Given the description of an element on the screen output the (x, y) to click on. 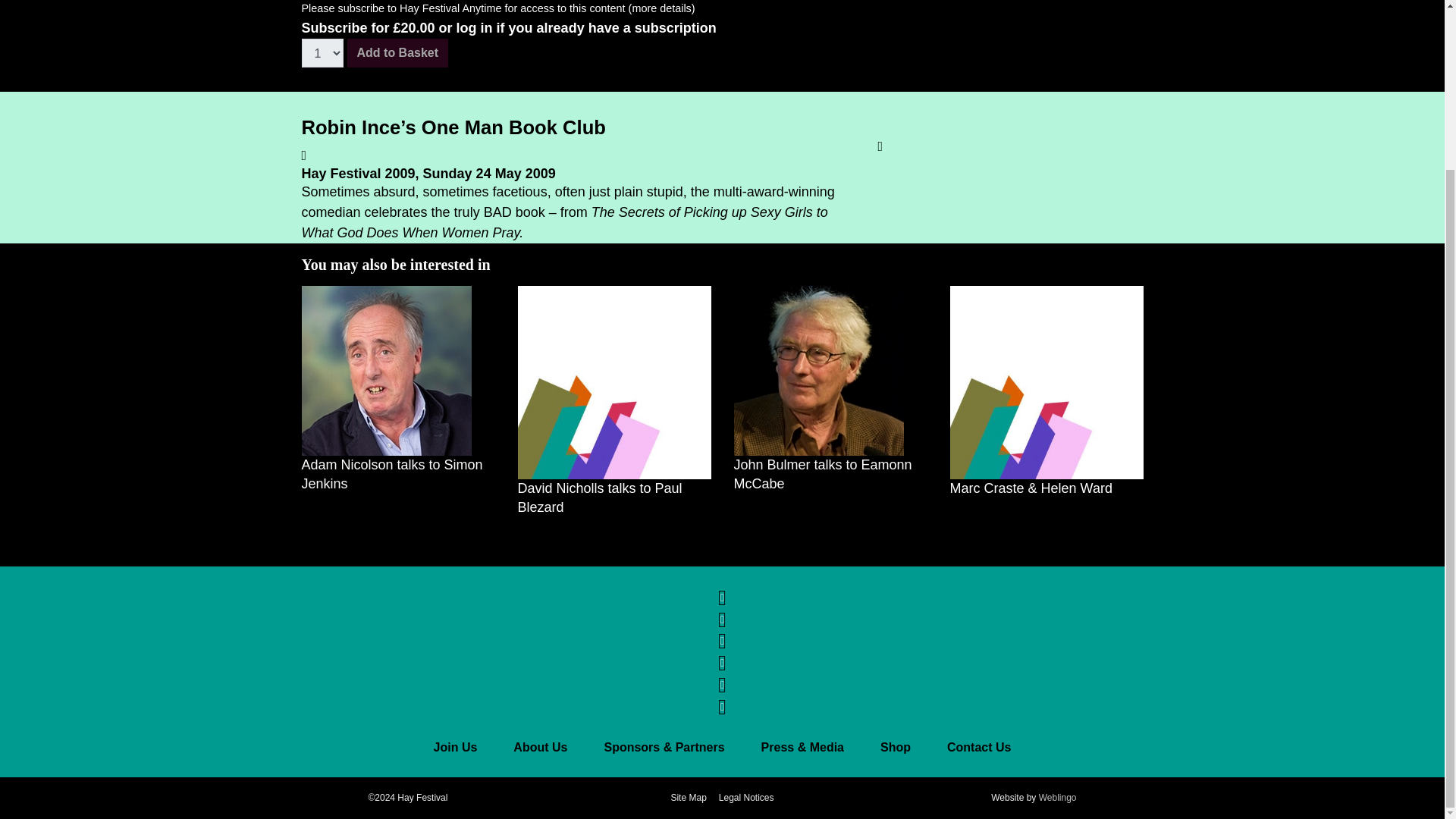
TikTok (721, 700)
YouTube (721, 679)
Instagram (721, 657)
Twitter (721, 613)
Threads (721, 635)
Add to Basket (397, 52)
Facebook (721, 591)
Adam Nicolson talks to Simon Jenkins (386, 370)
David Nicholls talks to Paul Blezard (613, 382)
John Bulmer talks to Eamonn McCabe (818, 370)
